Given the description of an element on the screen output the (x, y) to click on. 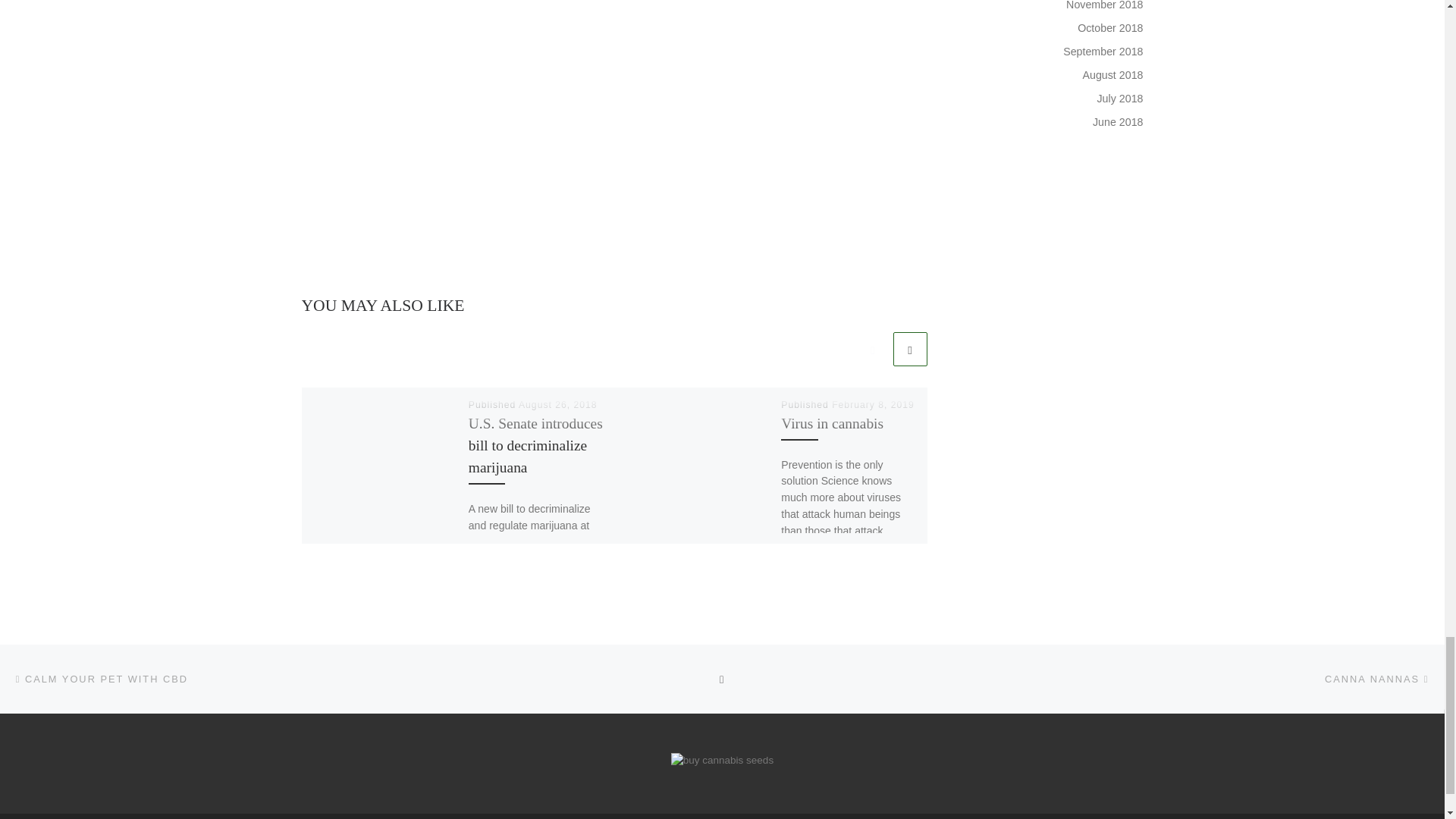
Next related articles (910, 349)
Previous related articles (872, 349)
